Given the description of an element on the screen output the (x, y) to click on. 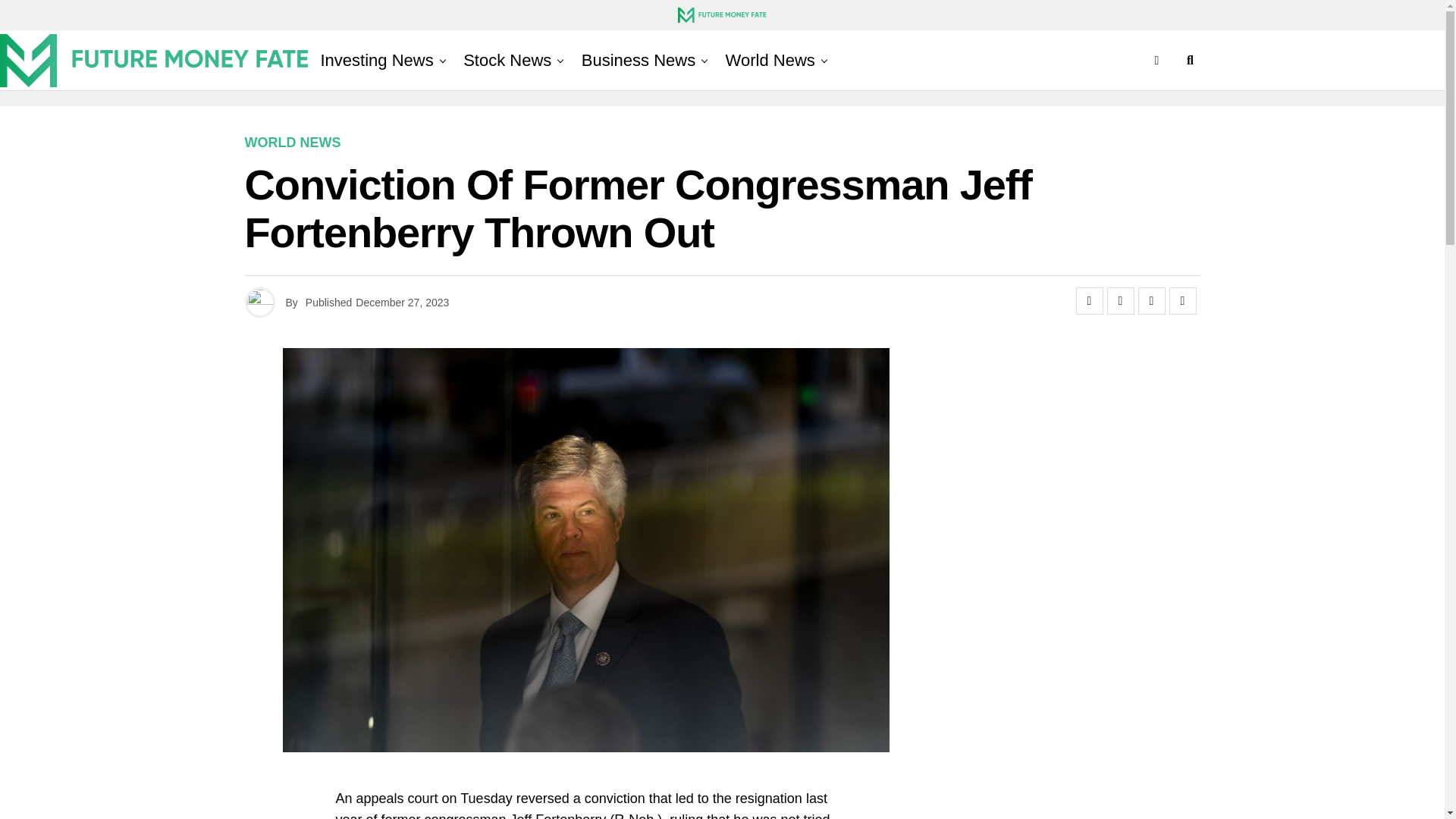
Share on Facebook (1088, 300)
Stock News (507, 60)
Tweet This Post (1120, 300)
Investing News (377, 60)
Business News (638, 60)
WORLD NEWS (292, 142)
World News (769, 60)
